Given the description of an element on the screen output the (x, y) to click on. 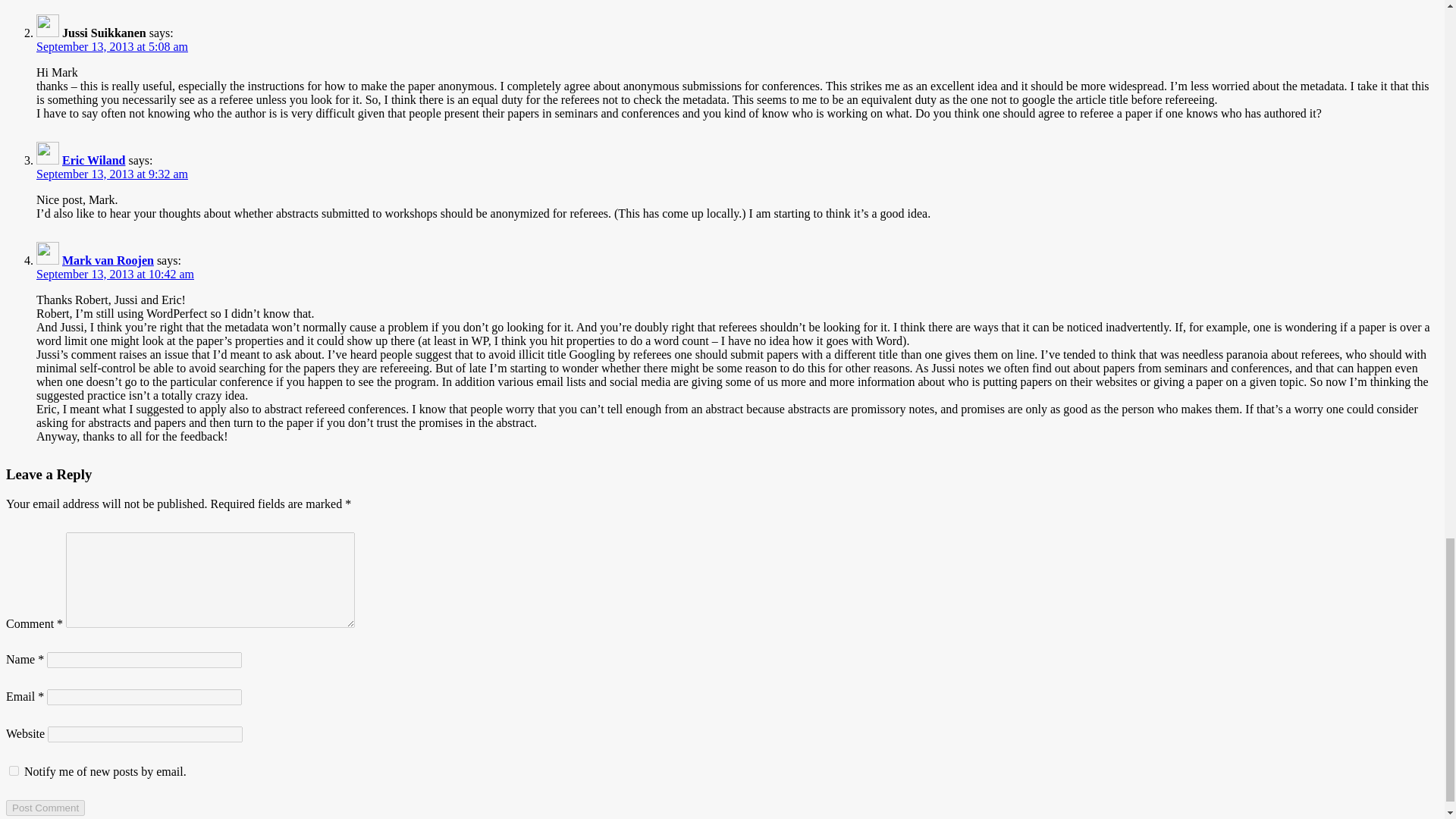
Post Comment (44, 807)
subscribe (13, 770)
